Given the description of an element on the screen output the (x, y) to click on. 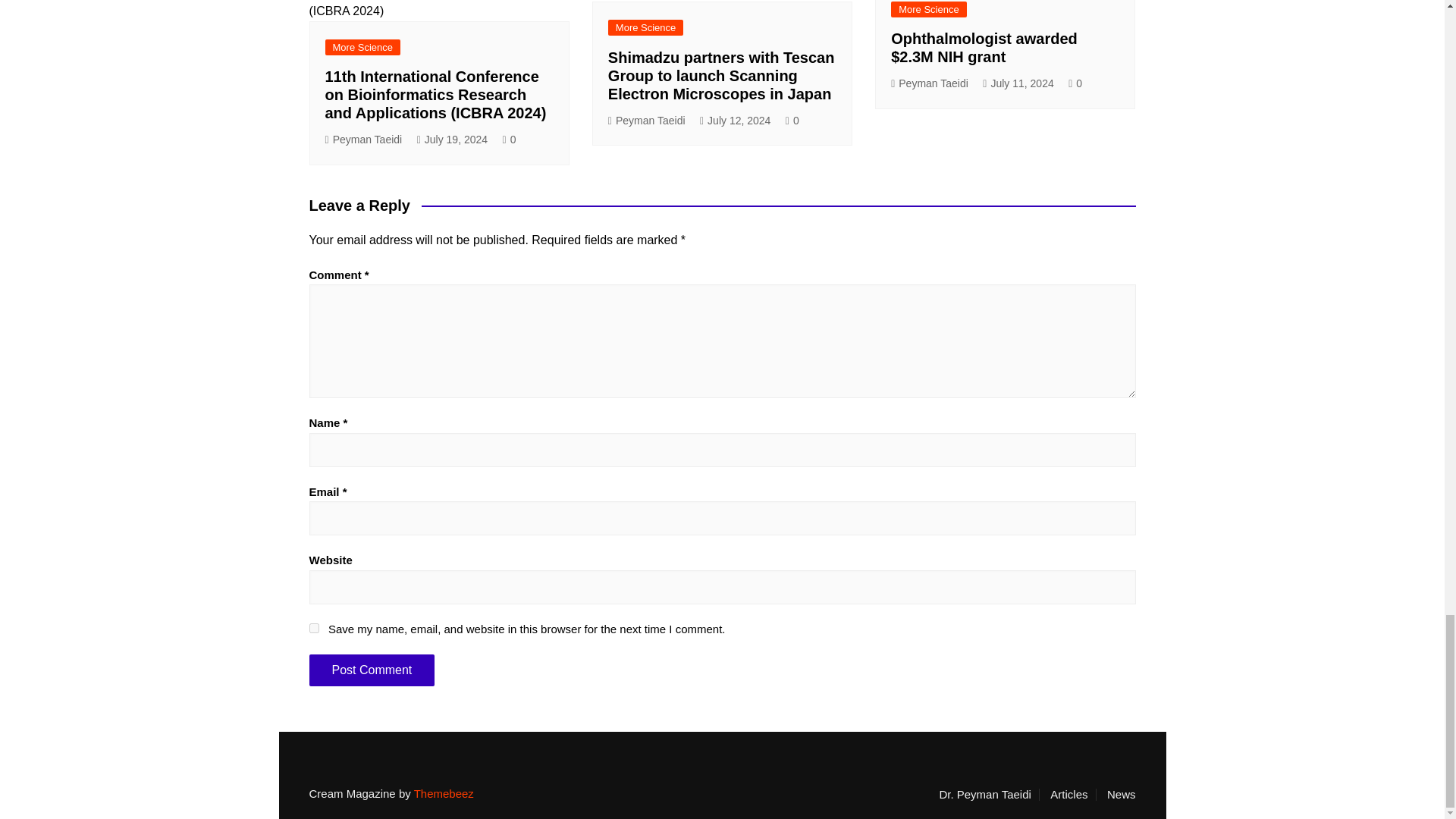
yes (313, 628)
Post Comment (371, 669)
More Science (361, 47)
BIO (989, 794)
